Given the description of an element on the screen output the (x, y) to click on. 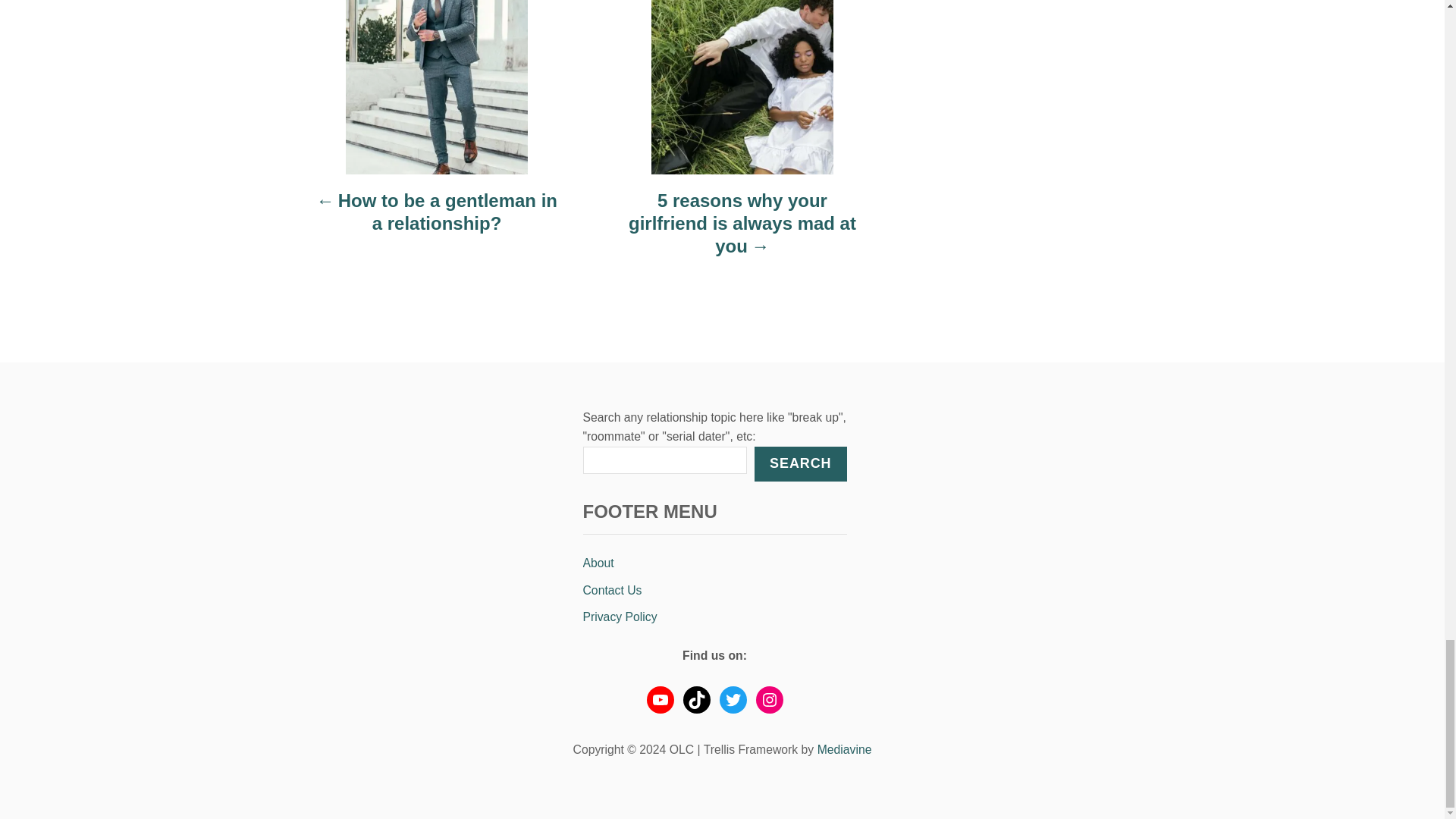
SEARCH (799, 463)
TikTok (696, 699)
Mediavine (844, 748)
5 reasons why your girlfriend is always mad at you (741, 230)
About (713, 563)
Twitter (732, 699)
Instagram (769, 699)
Contact Us (713, 590)
Privacy Policy (713, 616)
How to be a gentleman in a relationship? (437, 219)
YouTube (659, 699)
